Given the description of an element on the screen output the (x, y) to click on. 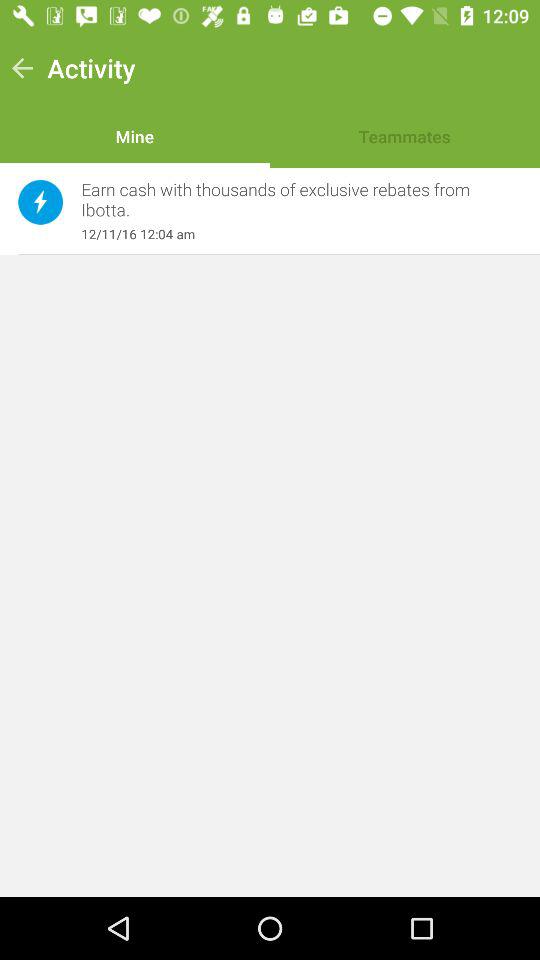
jump to the activity item (91, 67)
